Given the description of an element on the screen output the (x, y) to click on. 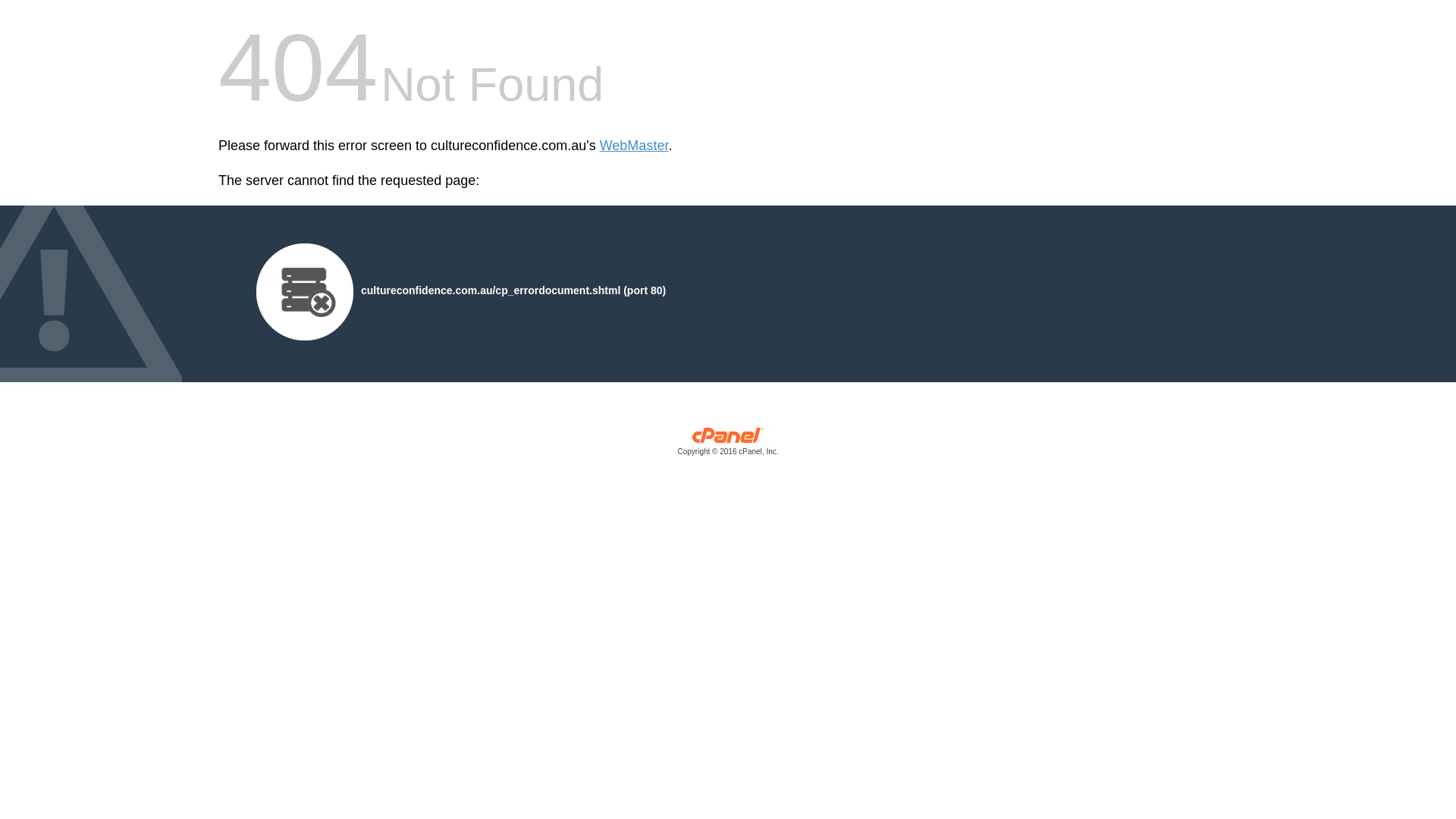
WebMaster Element type: text (633, 145)
